Given the description of an element on the screen output the (x, y) to click on. 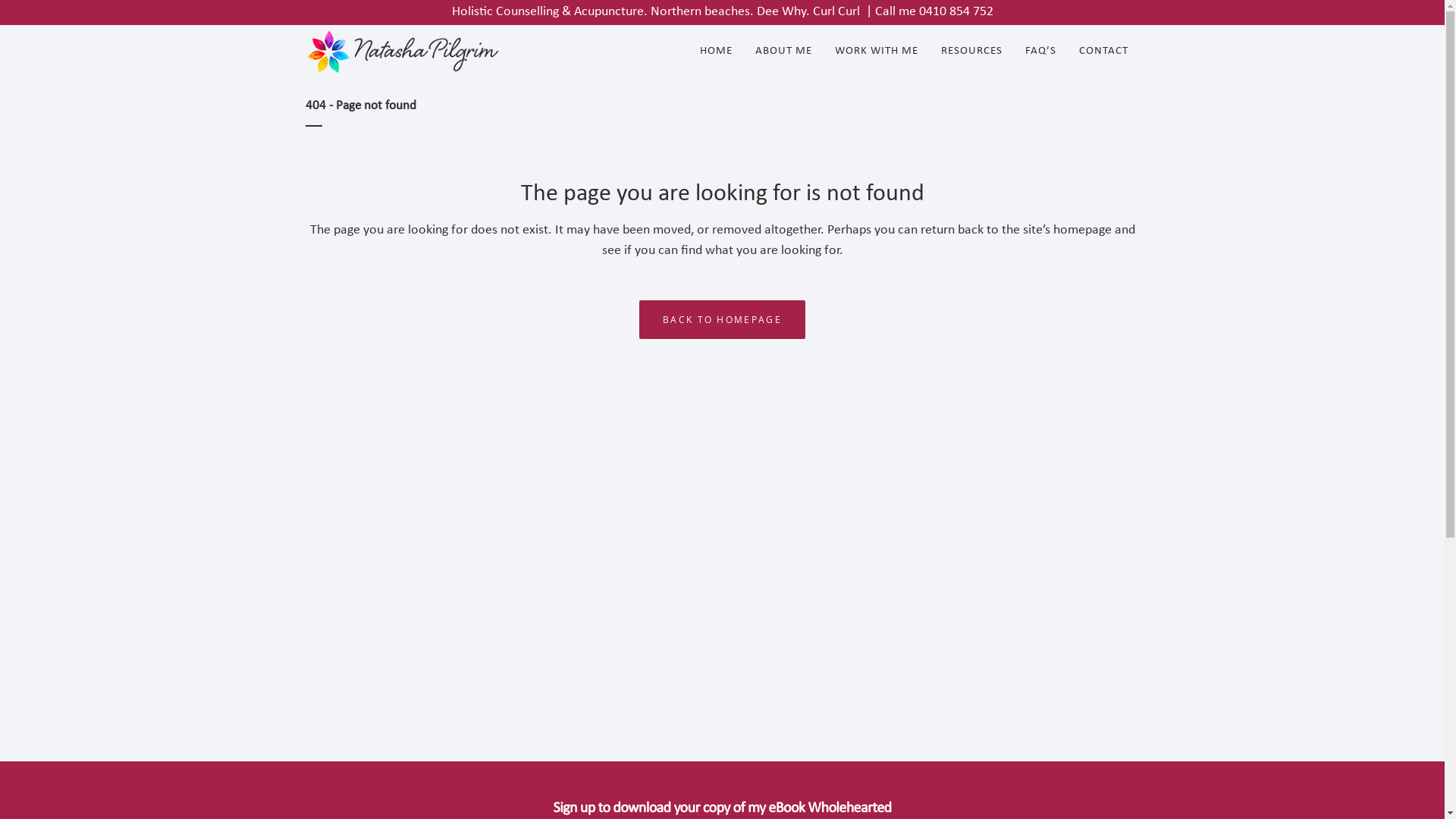
ABOUT ME Element type: text (782, 51)
0410 854 752 Element type: text (956, 11)
WORK WITH ME Element type: text (876, 51)
CONTACT Element type: text (1103, 51)
HOME Element type: text (715, 51)
RESOURCES Element type: text (971, 51)
BACK TO HOMEPAGE Element type: text (722, 319)
